Given the description of an element on the screen output the (x, y) to click on. 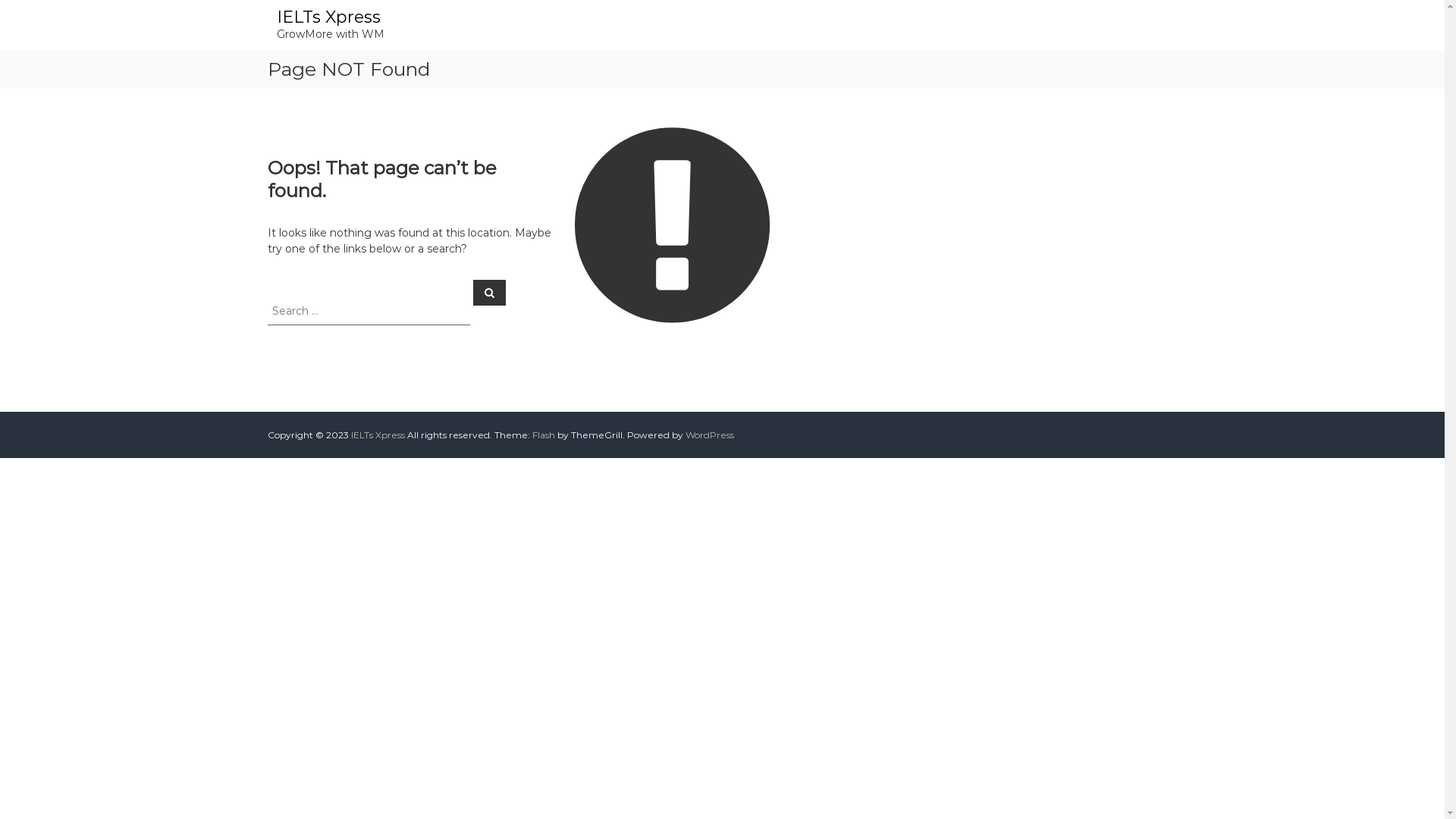
IELTs Xpress Element type: text (377, 434)
IELTs Xpress Element type: text (327, 16)
Search Element type: text (489, 291)
WordPress Element type: text (709, 434)
Flash Element type: text (543, 434)
